Given the description of an element on the screen output the (x, y) to click on. 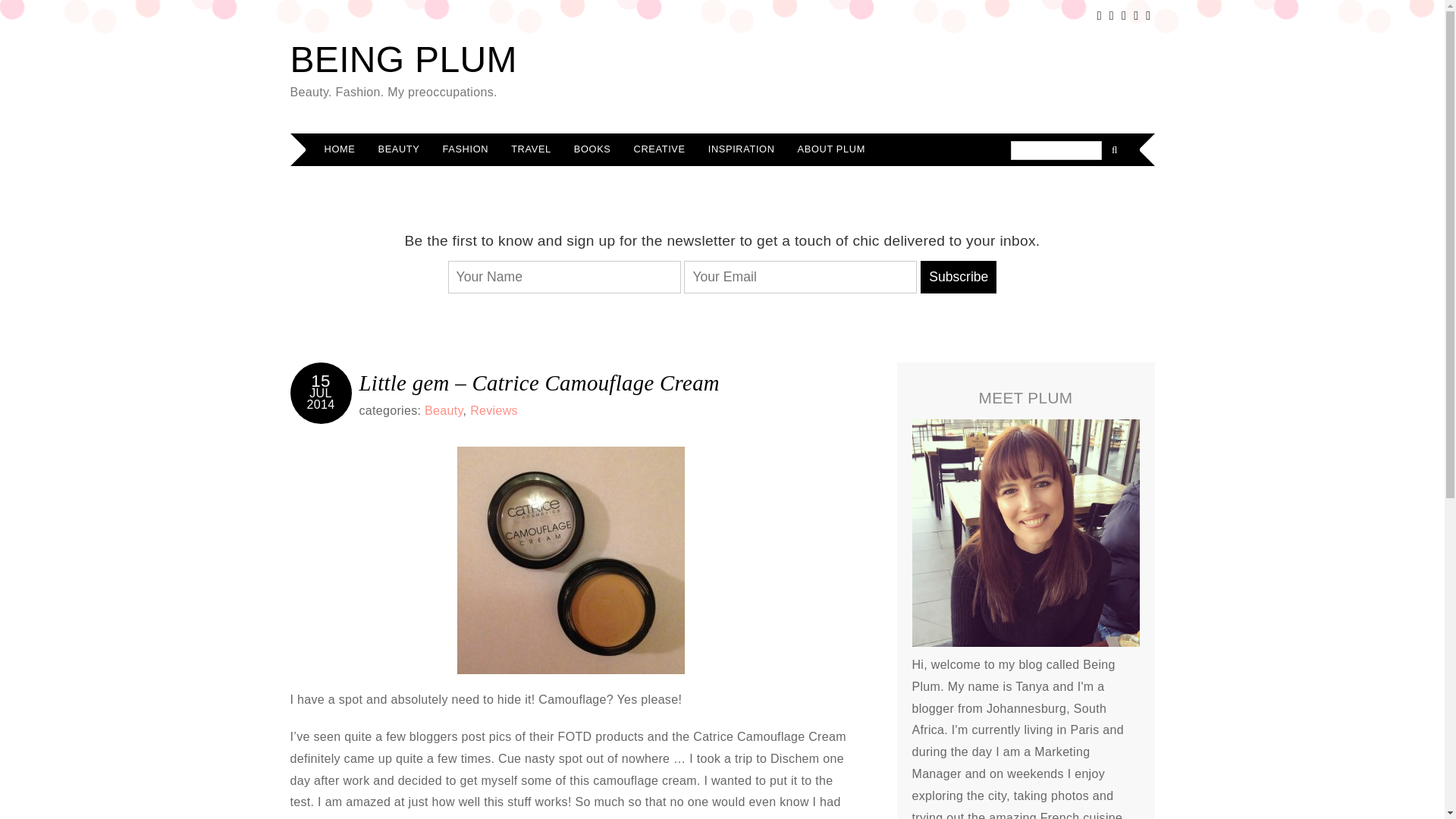
BOOKS (592, 149)
FASHION (464, 149)
TRAVEL (530, 149)
BEAUTY (398, 149)
Beauty (444, 410)
HOME (339, 149)
INSPIRATION (741, 149)
Subscribe (957, 277)
CREATIVE (660, 149)
15 (320, 380)
